Given the description of an element on the screen output the (x, y) to click on. 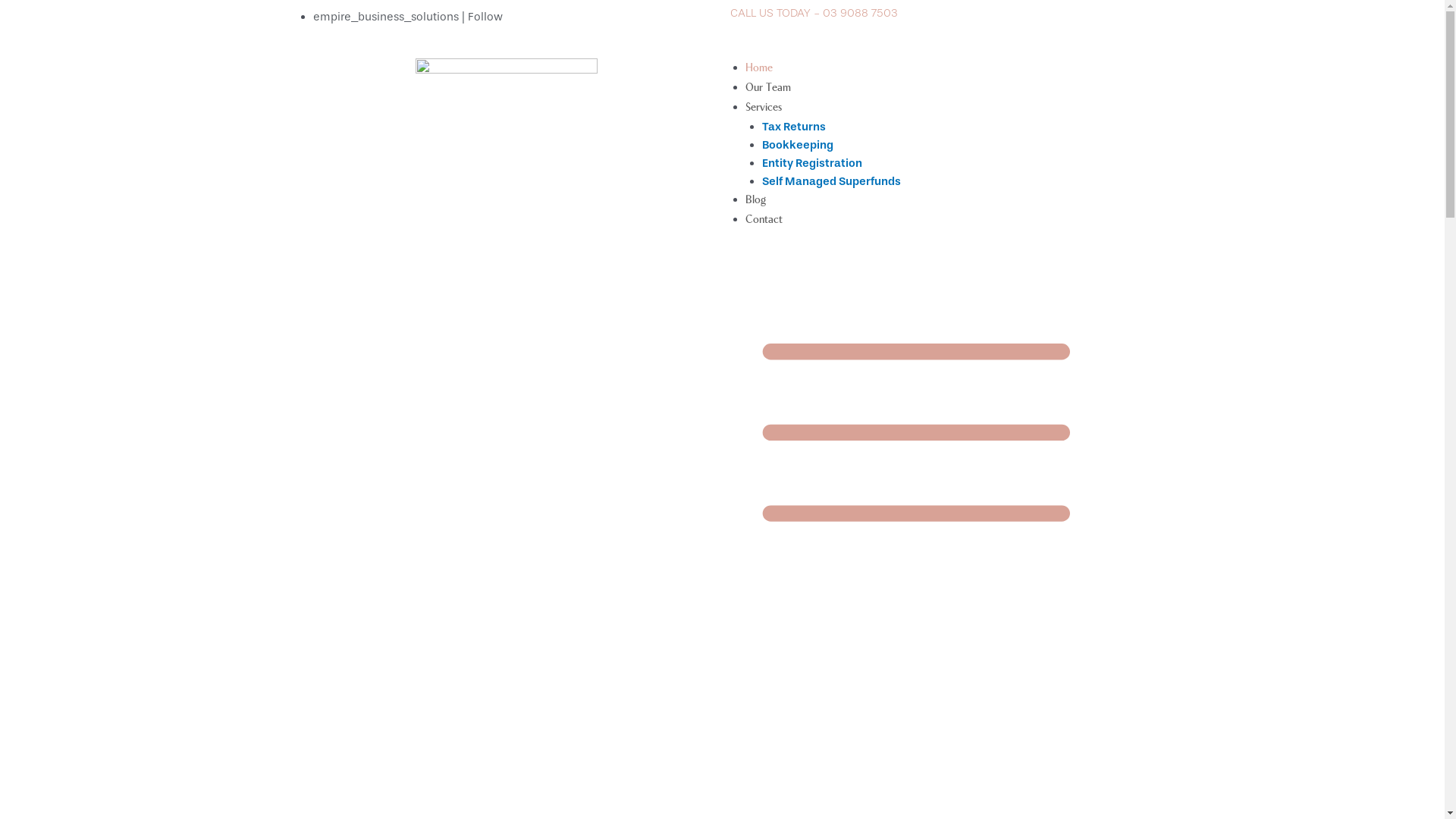
Services Element type: text (762, 106)
Entity Registration Element type: text (812, 162)
Contact Element type: text (762, 219)
CALL US TODAY - 03 9088 7503 Element type: text (813, 12)
Bookkeeping Element type: text (797, 144)
Self Managed Superfunds Element type: text (831, 181)
Blog Element type: text (754, 199)
Home Element type: text (757, 67)
Our Team Element type: text (767, 87)
empire_business_solutions | Follow Element type: text (407, 16)
Tax Returns Element type: text (793, 126)
